Given the description of an element on the screen output the (x, y) to click on. 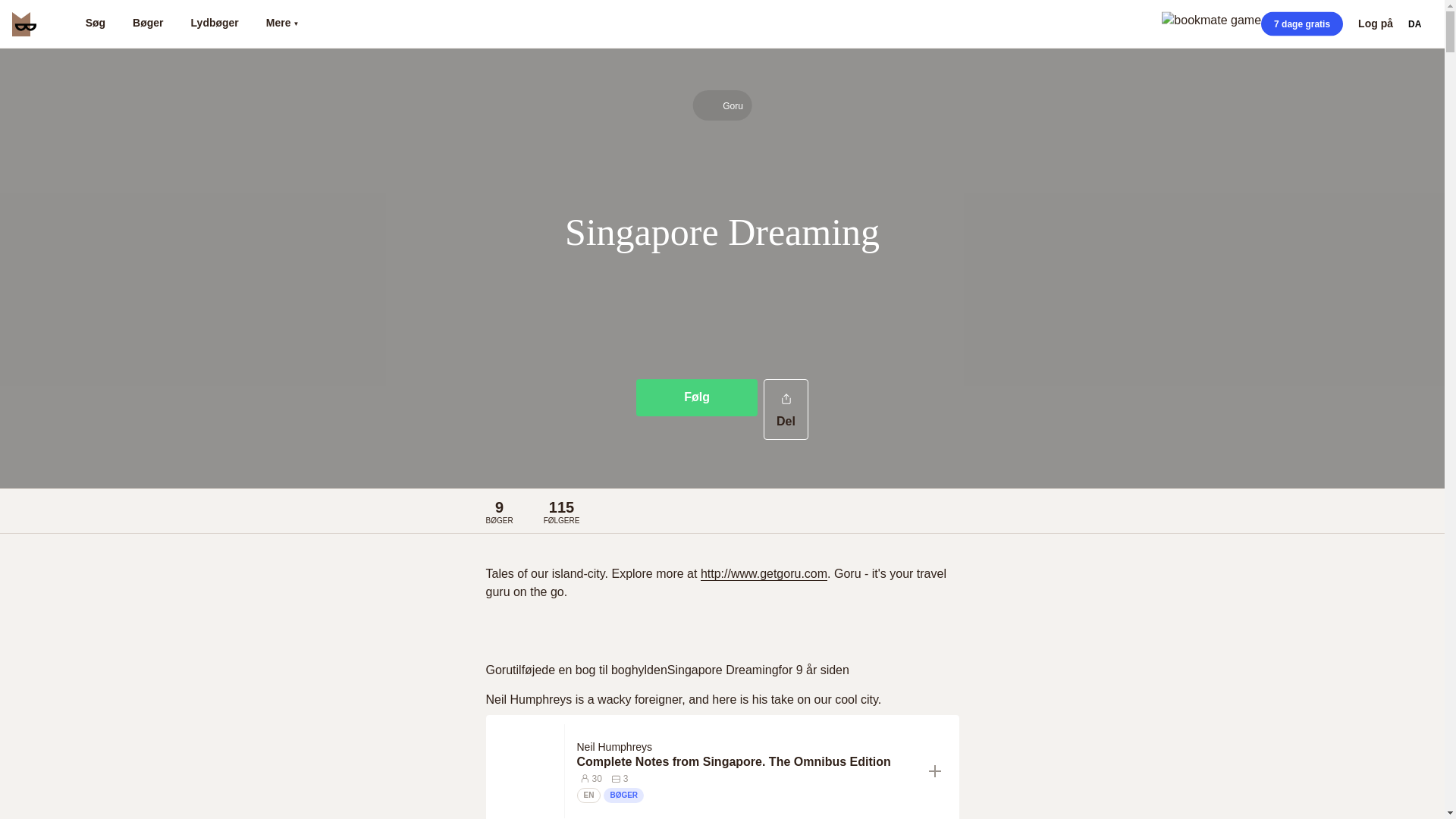
Complete Notes from Singapore. The Omnibus Edition (745, 761)
Singapore Dreaming (722, 669)
Neil Humphreys (614, 746)
7 dage gratis (1301, 23)
Neil Humphreys (617, 745)
Complete Notes from Singapore. The Omnibus Edition (745, 761)
